Given the description of an element on the screen output the (x, y) to click on. 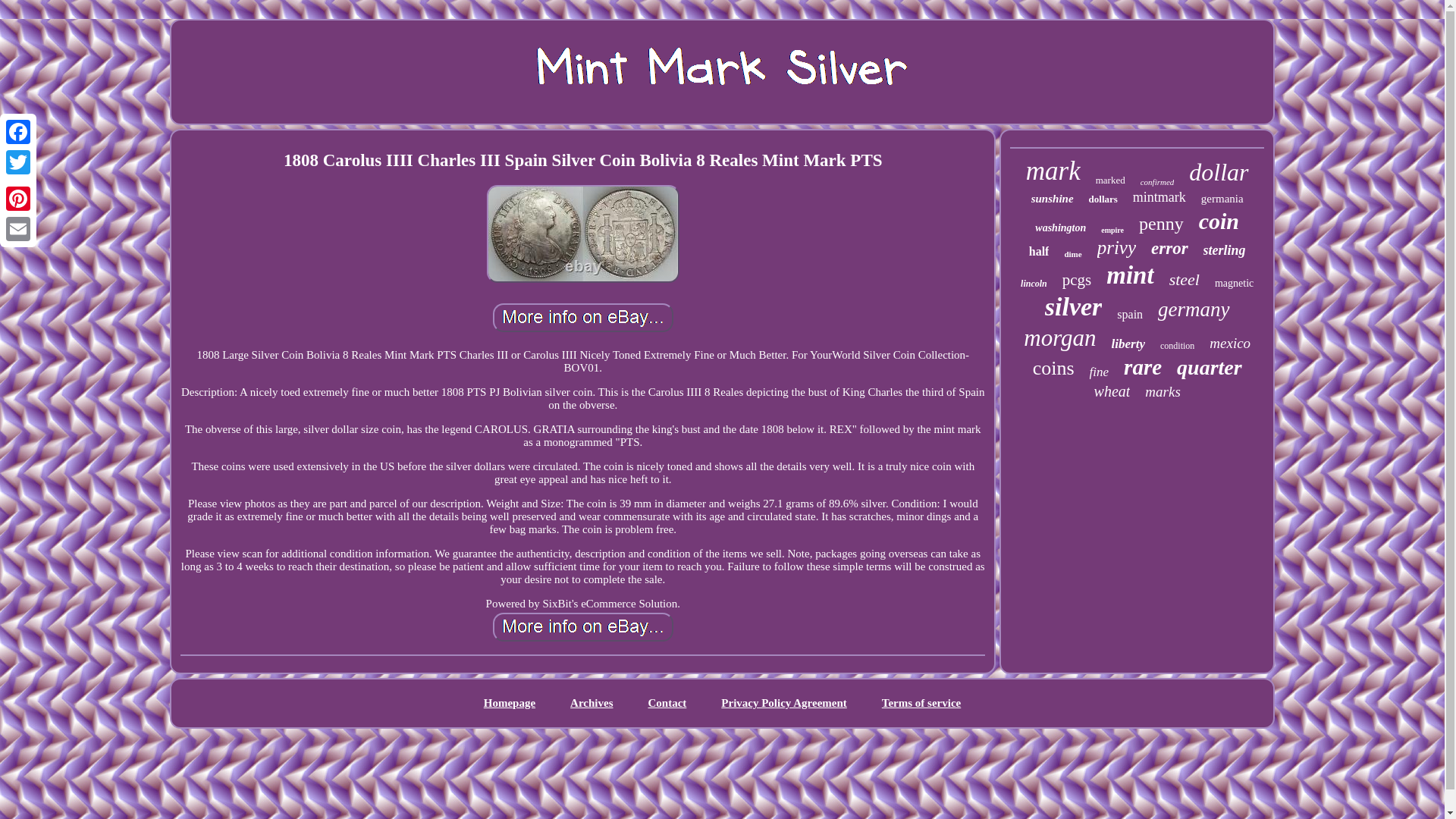
sunshine (1052, 198)
mint (1129, 275)
confirmed (1157, 181)
half (1039, 251)
empire (1112, 230)
germania (1222, 198)
dime (1072, 253)
spain (1129, 314)
privy (1116, 247)
